Given the description of an element on the screen output the (x, y) to click on. 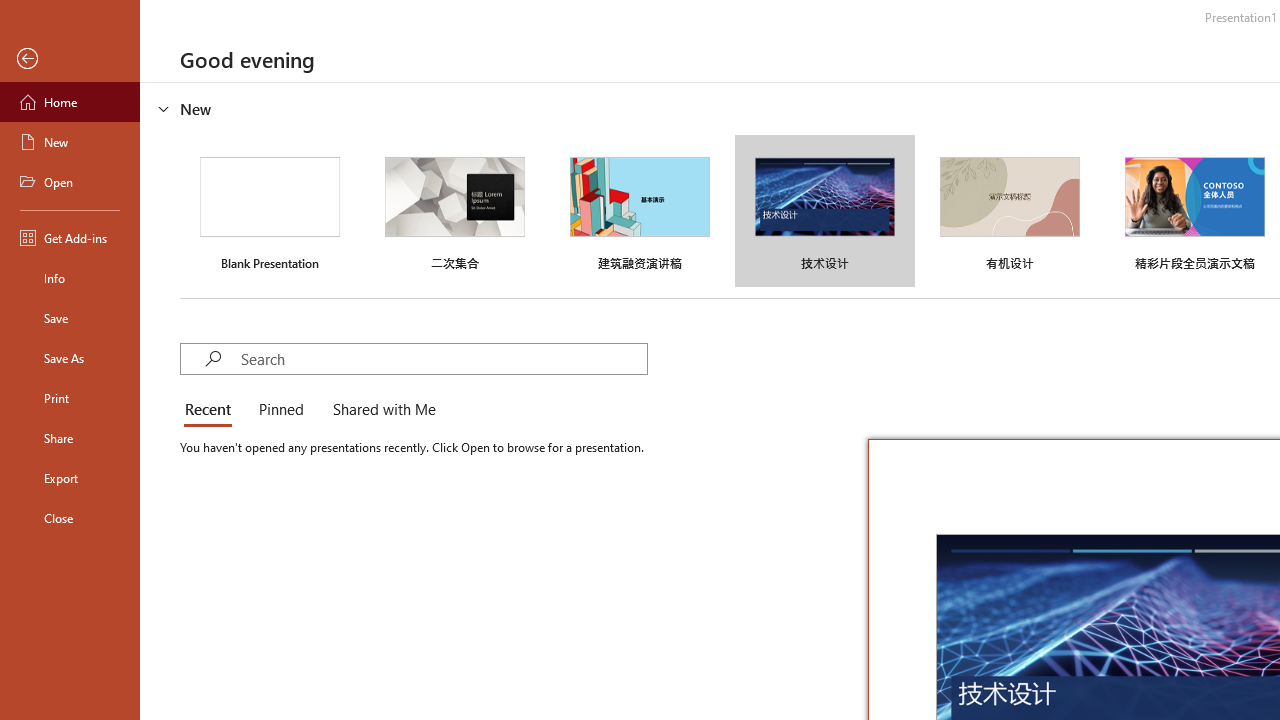
Export (69, 477)
Shared with Me (379, 410)
Blank Presentation (269, 211)
New (69, 141)
Recent (212, 410)
